Given the description of an element on the screen output the (x, y) to click on. 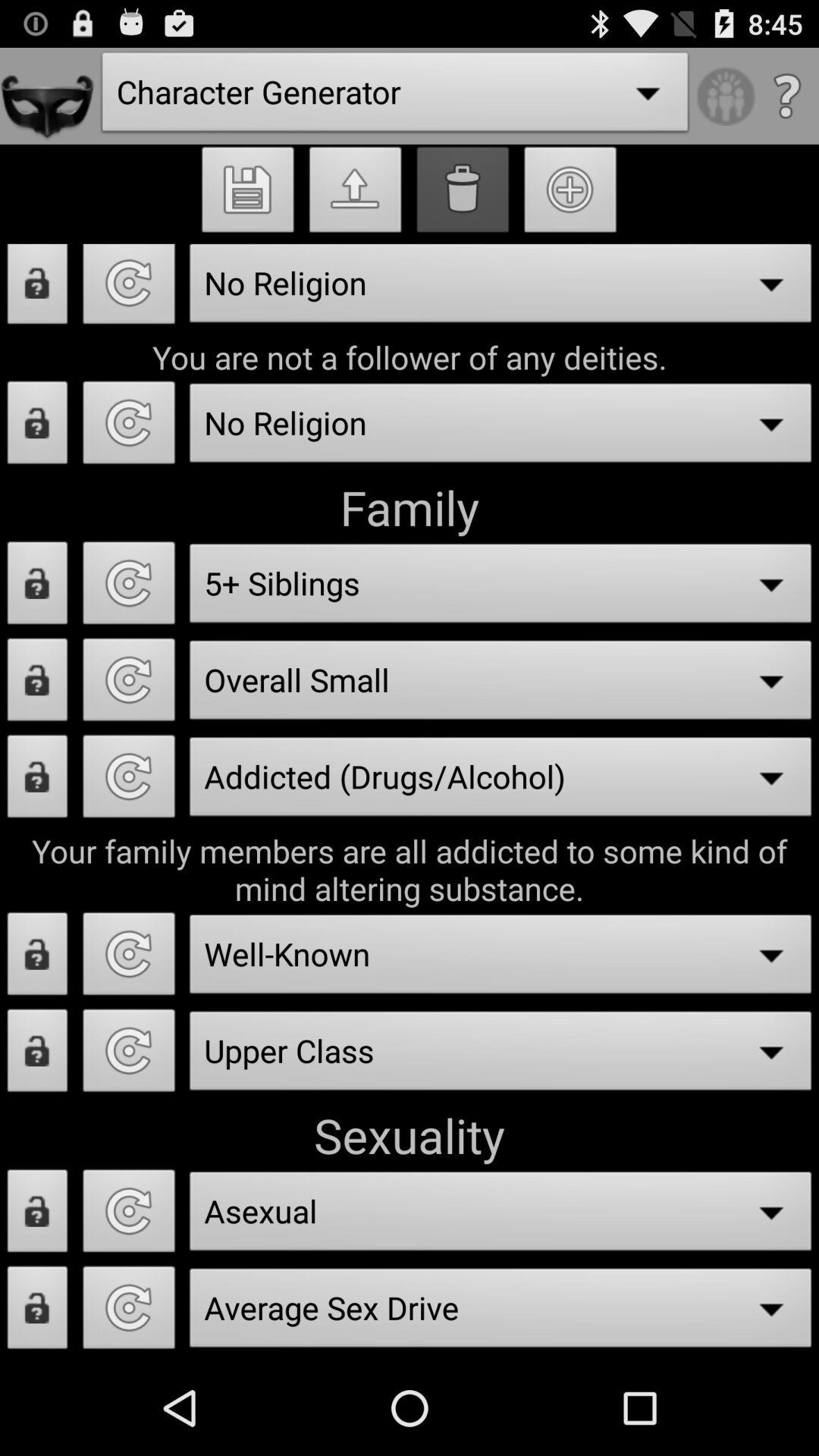
go to lock (37, 1215)
